Given the description of an element on the screen output the (x, y) to click on. 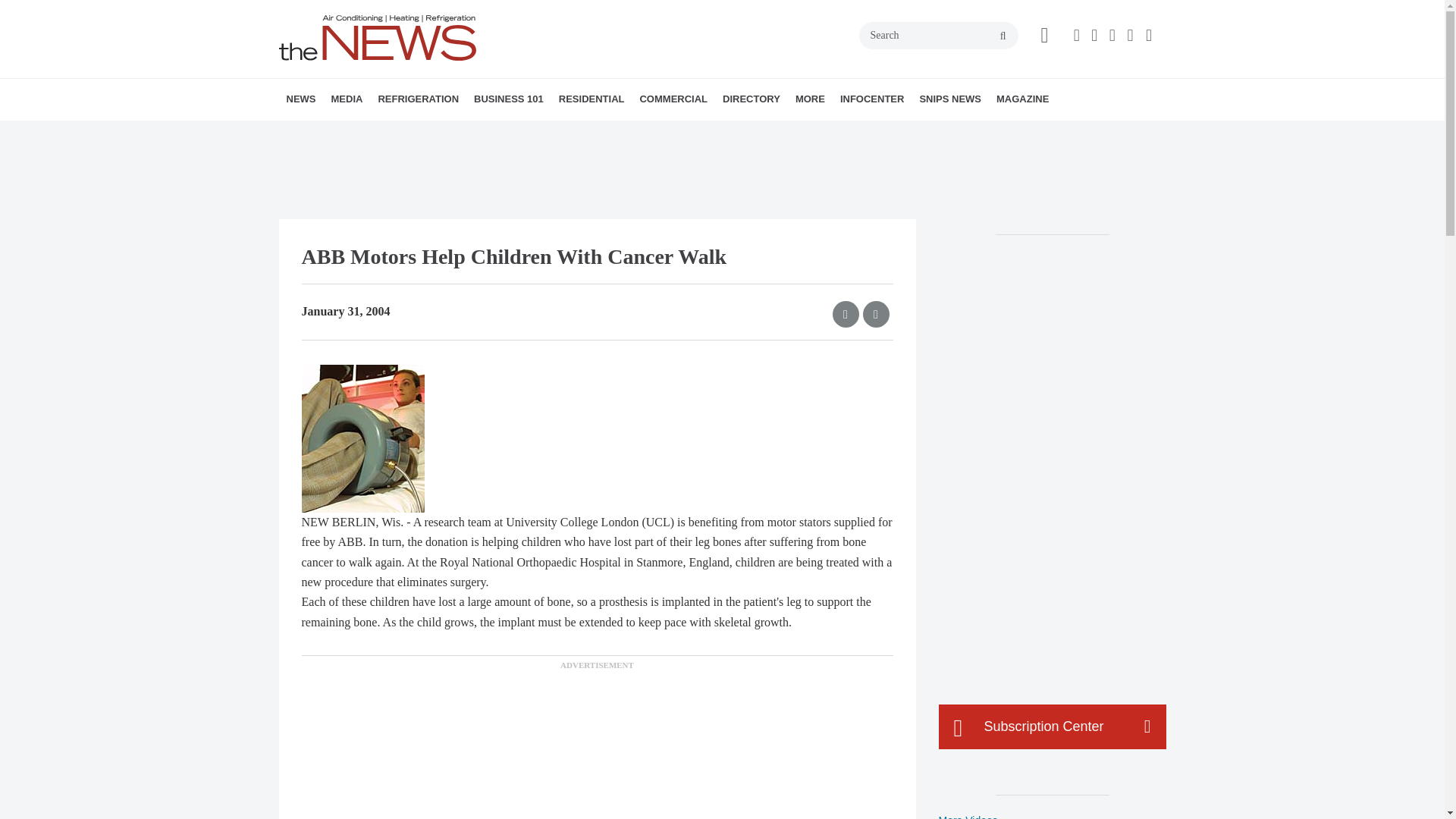
cart (1044, 35)
Search (938, 35)
search (1002, 36)
REFRIGERANTS (464, 132)
NEWS (301, 98)
BREAKING NEWS (373, 132)
youtube (1150, 35)
HVAC DATA (391, 132)
NEW HVAC PRODUCTS (380, 132)
facebook (1079, 35)
THE NEWS HVACR QUIZ (445, 132)
WEBINARS (436, 132)
EBOOKS (442, 132)
twitter (1096, 35)
ONLINE POLL (452, 132)
